Given the description of an element on the screen output the (x, y) to click on. 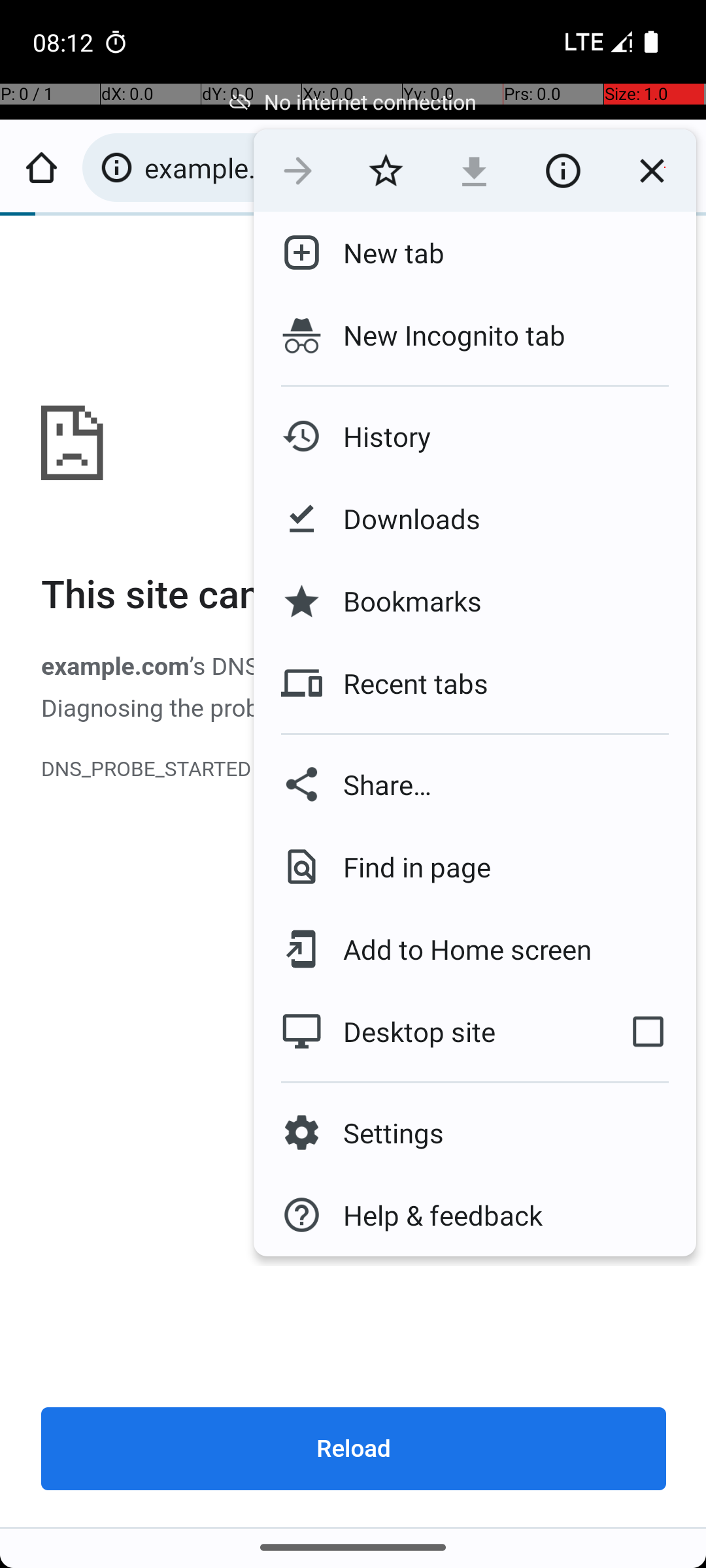
Forward Element type: android.widget.ImageButton (297, 170)
Bookmark Element type: android.widget.ImageButton (385, 170)
Download Element type: android.widget.ImageButton (474, 170)
Page info Element type: android.widget.ImageButton (562, 170)
Stop refreshing Element type: android.widget.ImageButton (651, 170)
New tab Element type: android.widget.TextView (383, 252)
New Incognito tab Element type: android.widget.TextView (474, 335)
History Element type: android.widget.TextView (376, 436)
Bookmarks Element type: android.widget.TextView (401, 600)
Recent tabs Element type: android.widget.TextView (405, 683)
Share… Element type: android.widget.TextView (474, 784)
Find in page Element type: android.widget.TextView (406, 866)
Add to Home screen Element type: android.widget.TextView (457, 949)
Desktop site Element type: android.widget.TextView (426, 1031)
Help & feedback Element type: android.widget.TextView (432, 1215)
08:12 Element type: android.widget.TextView (64, 41)
